Given the description of an element on the screen output the (x, y) to click on. 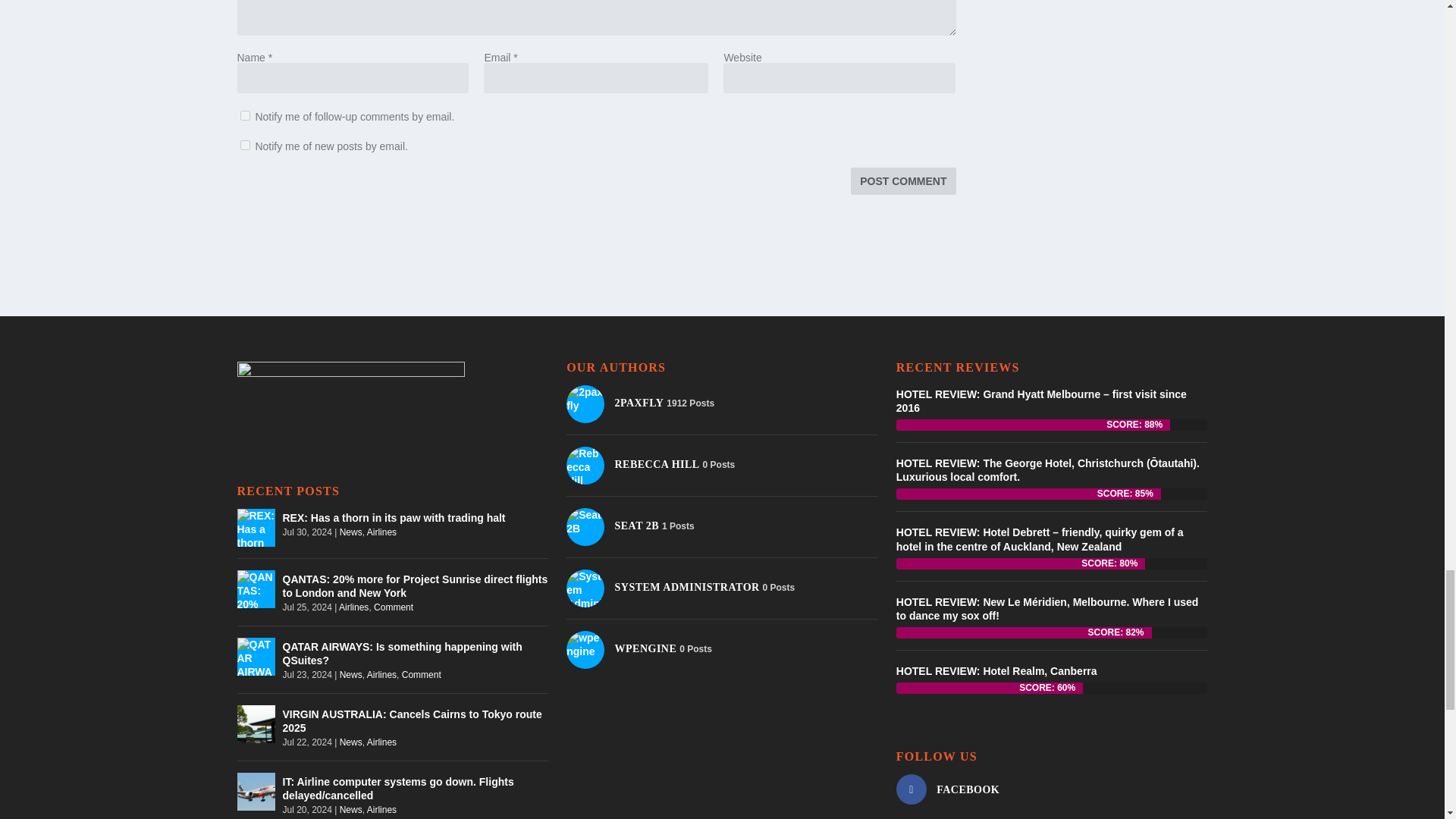
subscribe (244, 115)
Post Comment (902, 180)
subscribe (244, 144)
